Given the description of an element on the screen output the (x, y) to click on. 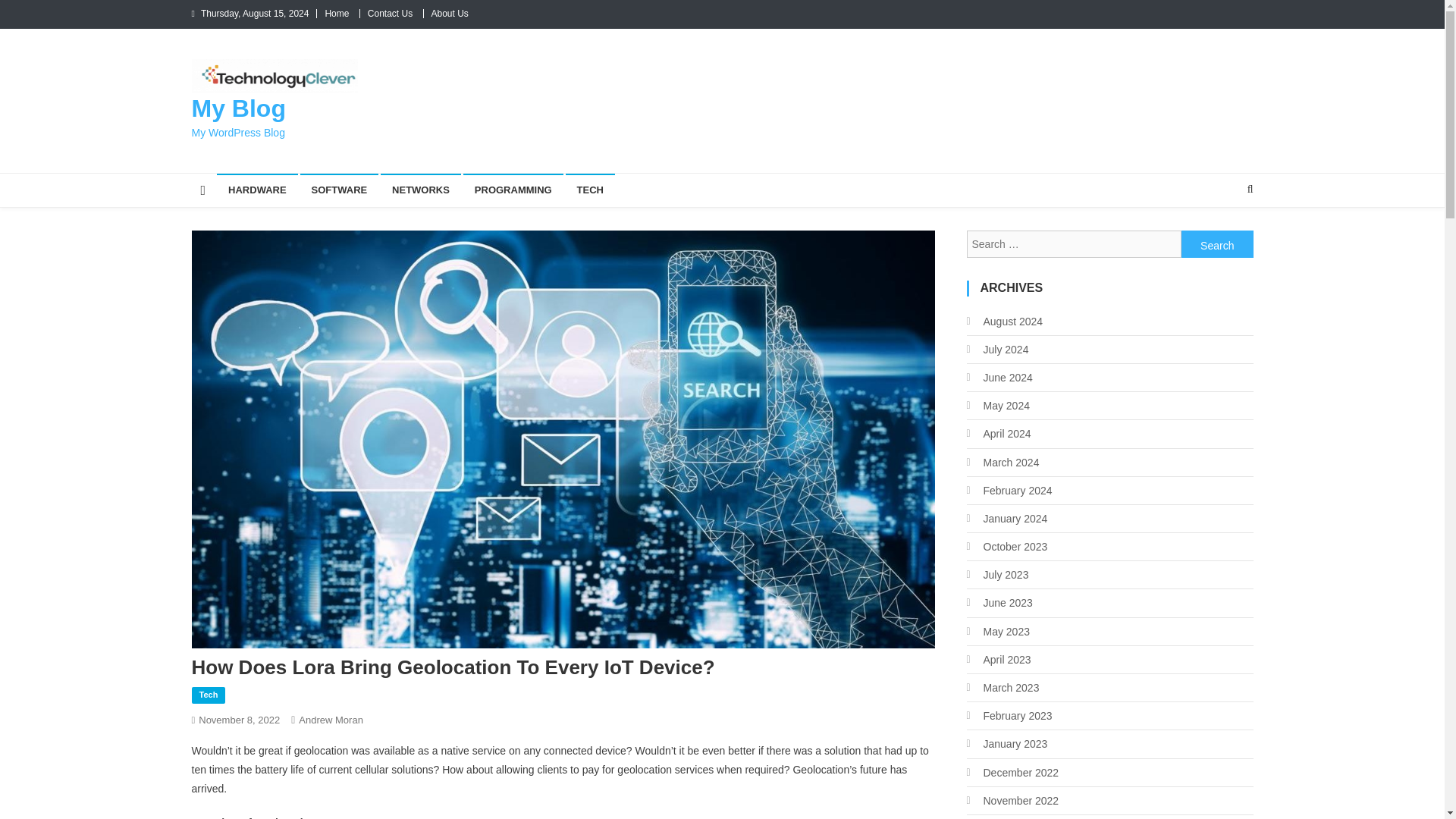
Tech (207, 695)
May 2024 (997, 405)
HARDWARE (257, 190)
About Us (448, 13)
August 2024 (1004, 321)
Contact Us (390, 13)
Search (1221, 239)
November 8, 2022 (238, 719)
Search (1216, 243)
Home (336, 13)
